Given the description of an element on the screen output the (x, y) to click on. 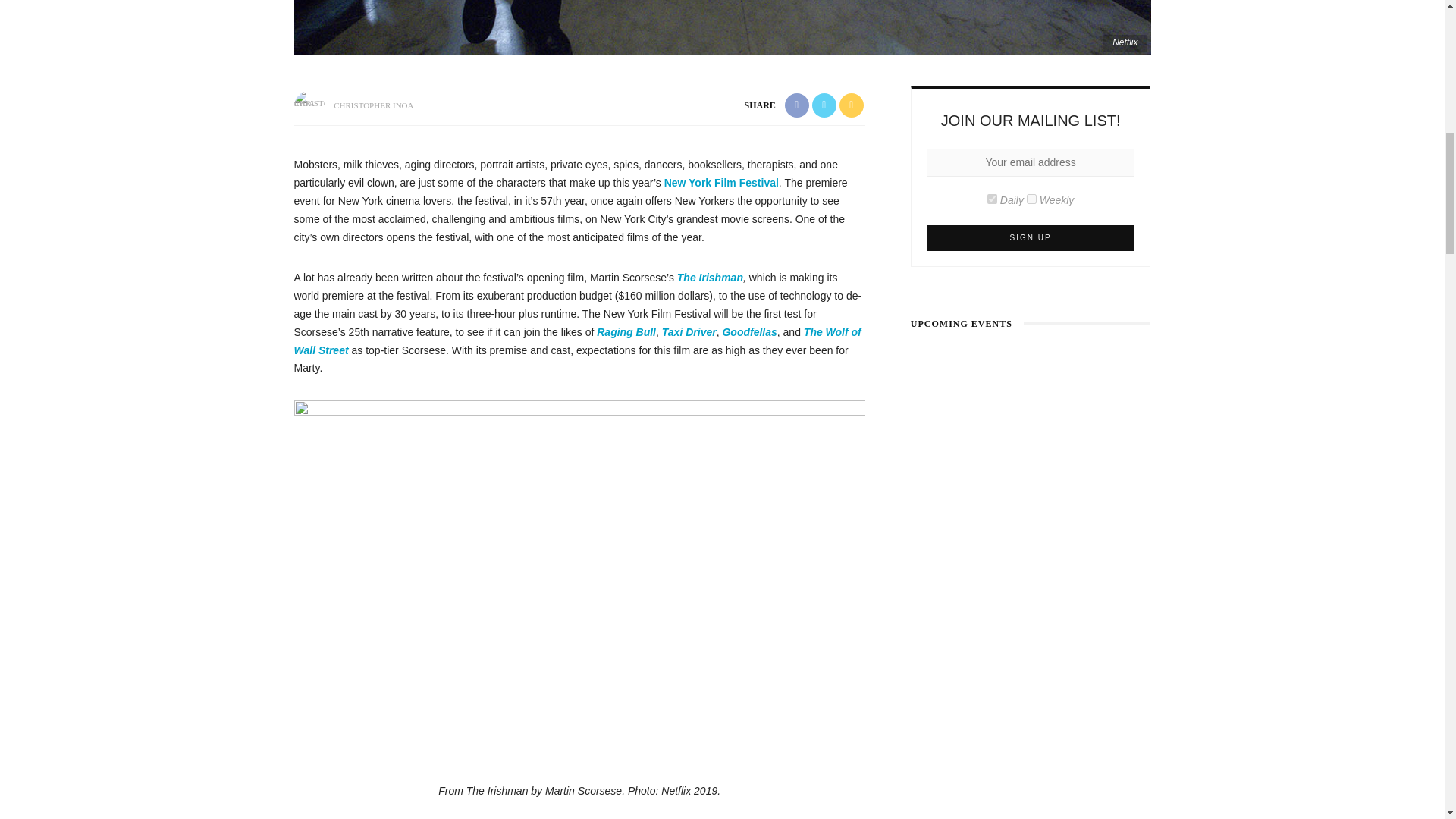
Sign up (1030, 237)
e99a09560c (992, 198)
FareHarbor (1342, 64)
7cff6a70fd (1031, 198)
